Given the description of an element on the screen output the (x, y) to click on. 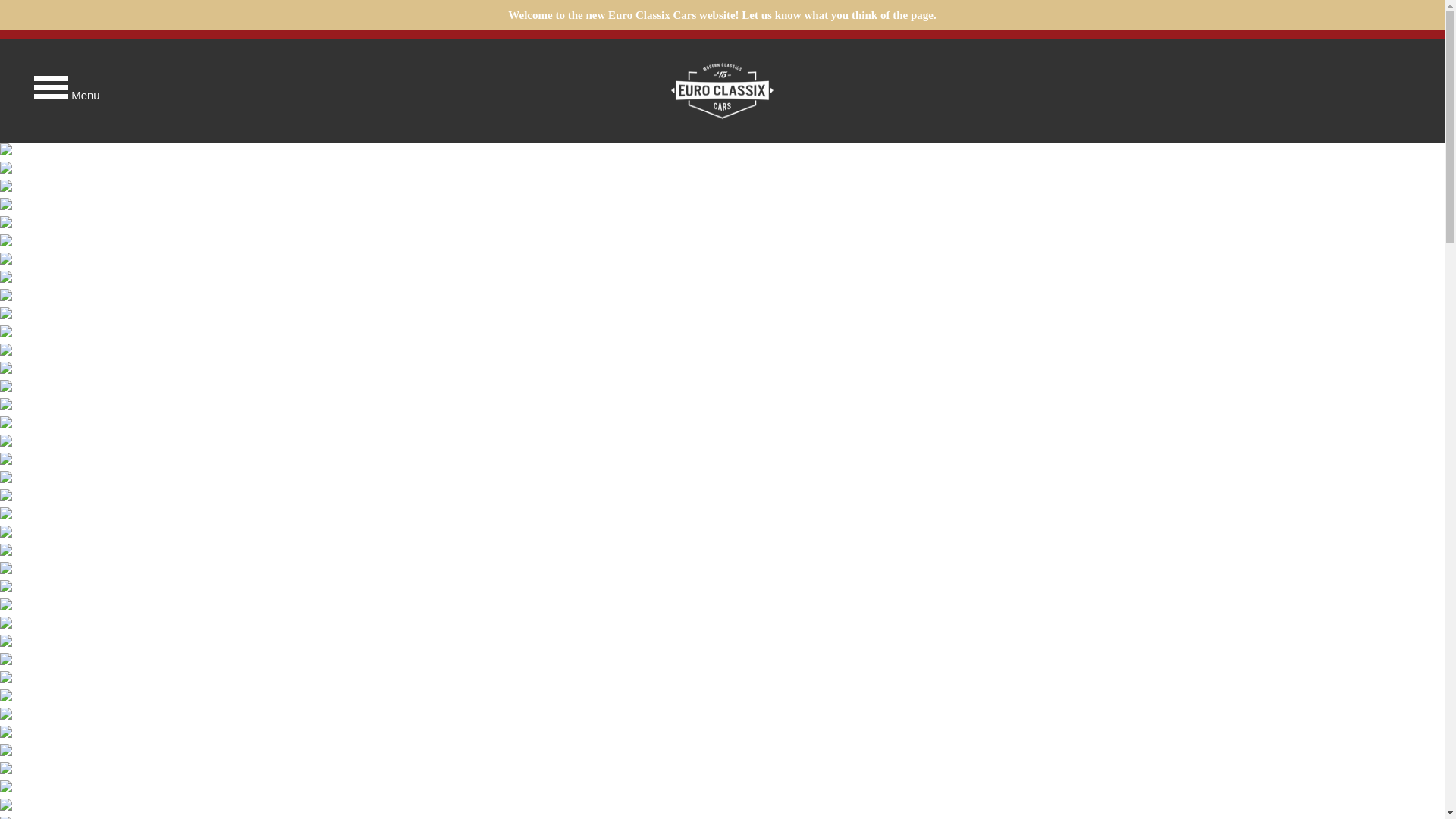
Menu (53, 91)
Send (722, 506)
